Given the description of an element on the screen output the (x, y) to click on. 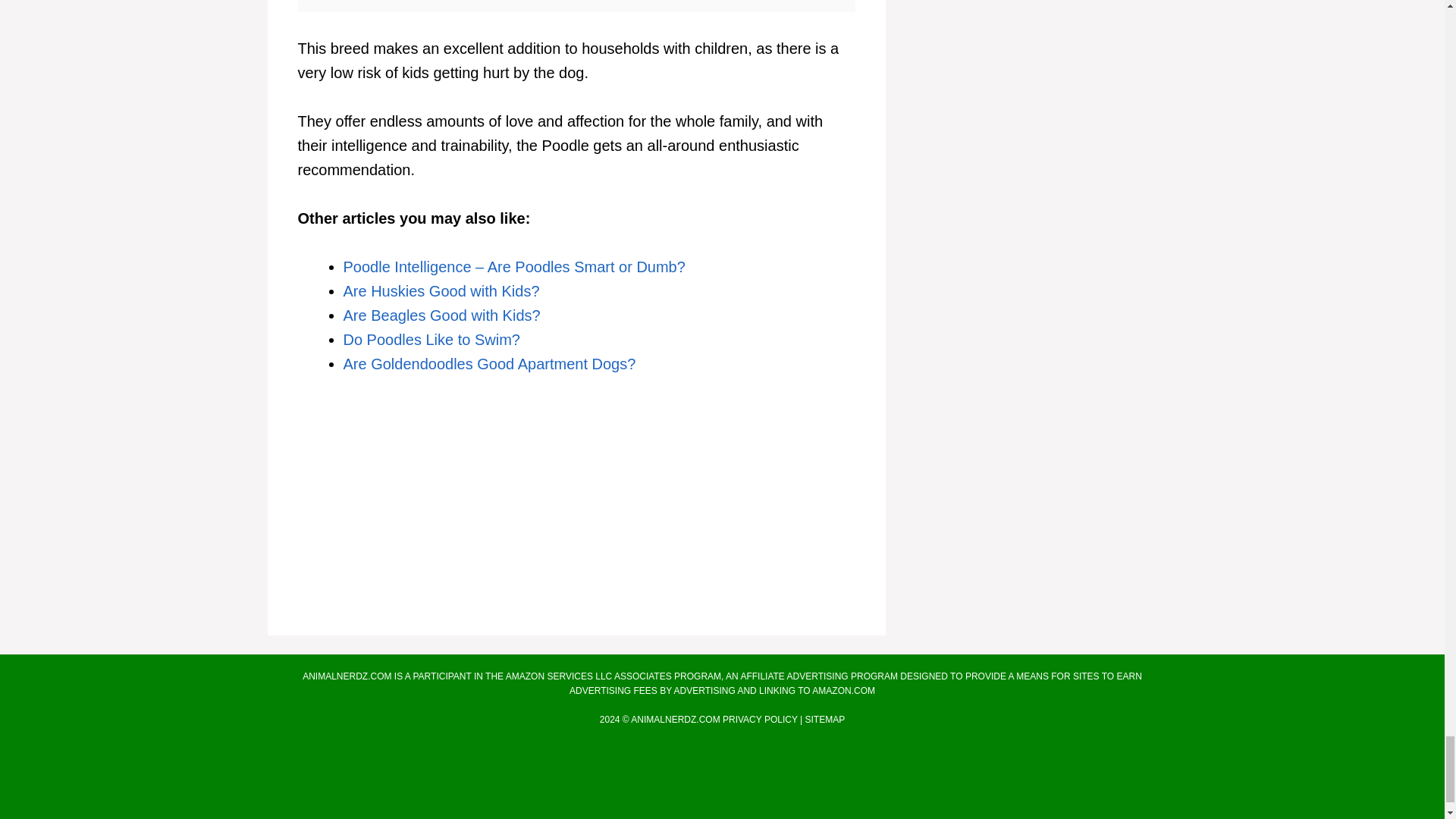
Are Goldendoodles Good Apartment Dogs? (488, 363)
Are Beagles Good with Kids? (441, 315)
Are Huskies Good with Kids? (440, 290)
Do Poodles Like to Swim? (430, 339)
